Given the description of an element on the screen output the (x, y) to click on. 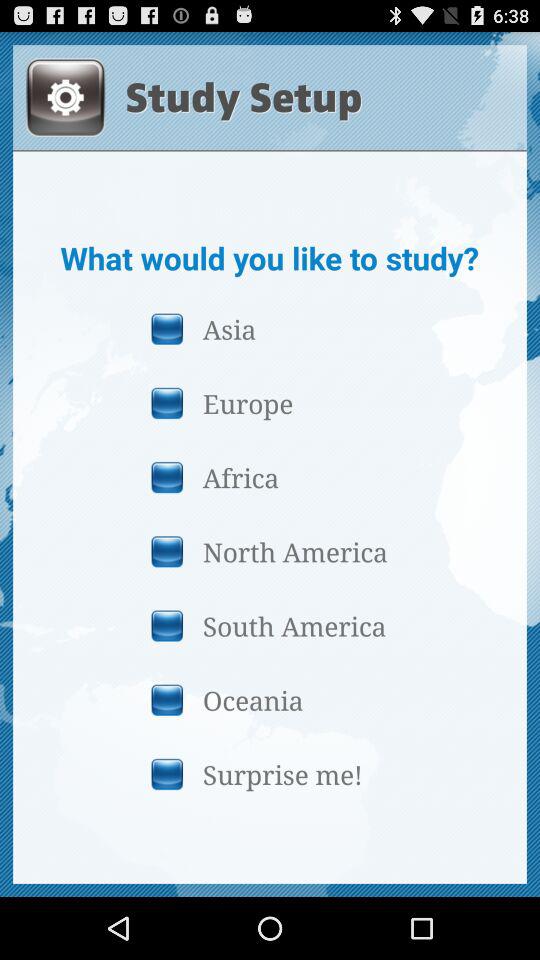
scroll to the africa icon (269, 477)
